Given the description of an element on the screen output the (x, y) to click on. 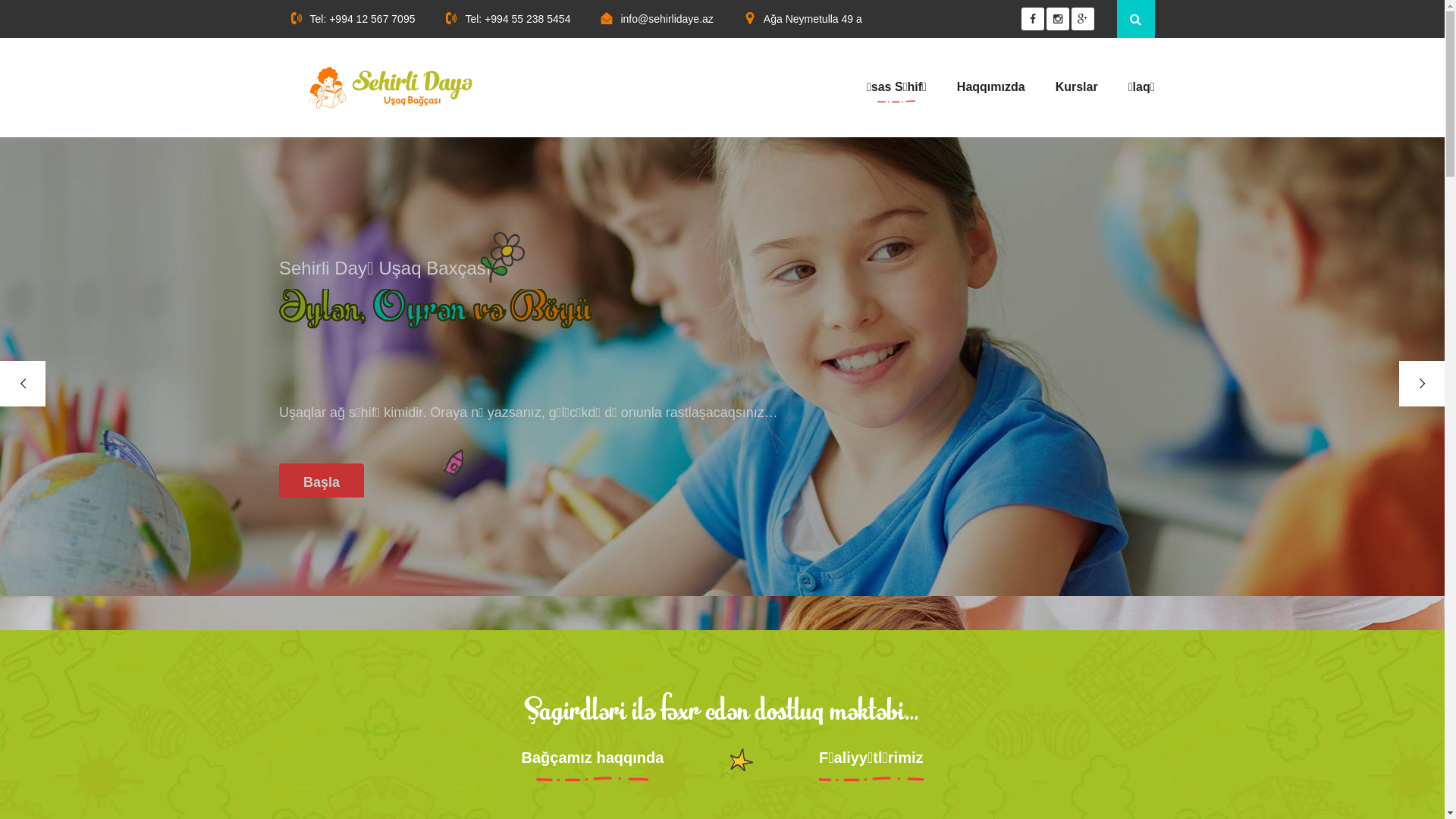
Kurslar Element type: text (1076, 87)
